Given the description of an element on the screen output the (x, y) to click on. 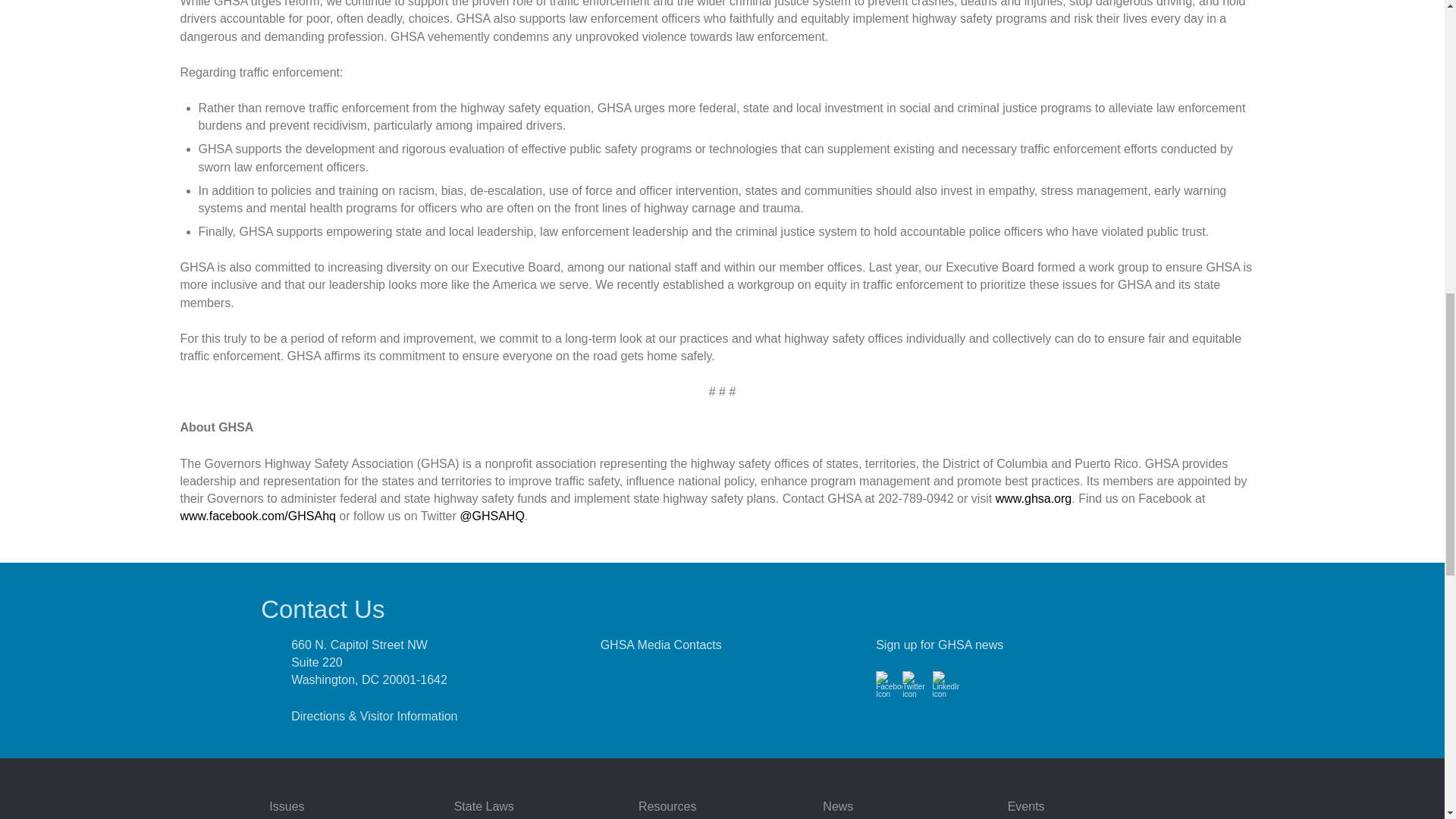
Like Us on Facebook! (889, 692)
Follow Us on Twitter! (915, 692)
Connect With Us on LinkedIn! (946, 692)
